Given the description of an element on the screen output the (x, y) to click on. 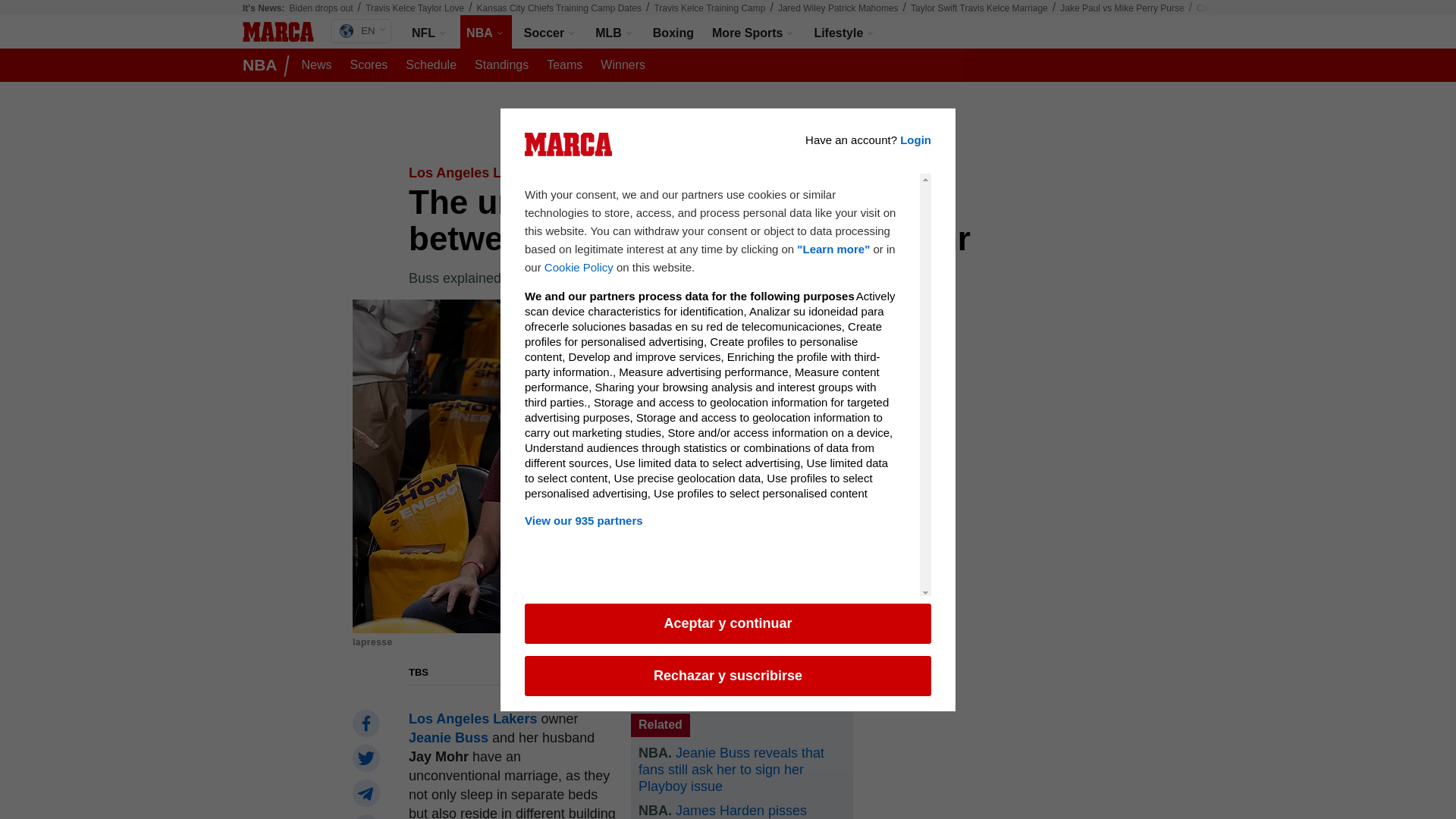
Conor McGregor vs Jake Paul (1257, 8)
Travis Kelce Taylor Love (414, 8)
News (316, 64)
Login (915, 150)
Lifestyle (845, 31)
Biden drops out (321, 8)
Soccer (550, 31)
Teams (564, 64)
Boxing (673, 31)
Rechazar y suscribirse (727, 675)
Jared Wiley Patrick Mahomes (837, 8)
Aceptar y continuar (727, 623)
NBA (486, 31)
Taylor Swift Travis Kelce Marriage (979, 8)
